Given the description of an element on the screen output the (x, y) to click on. 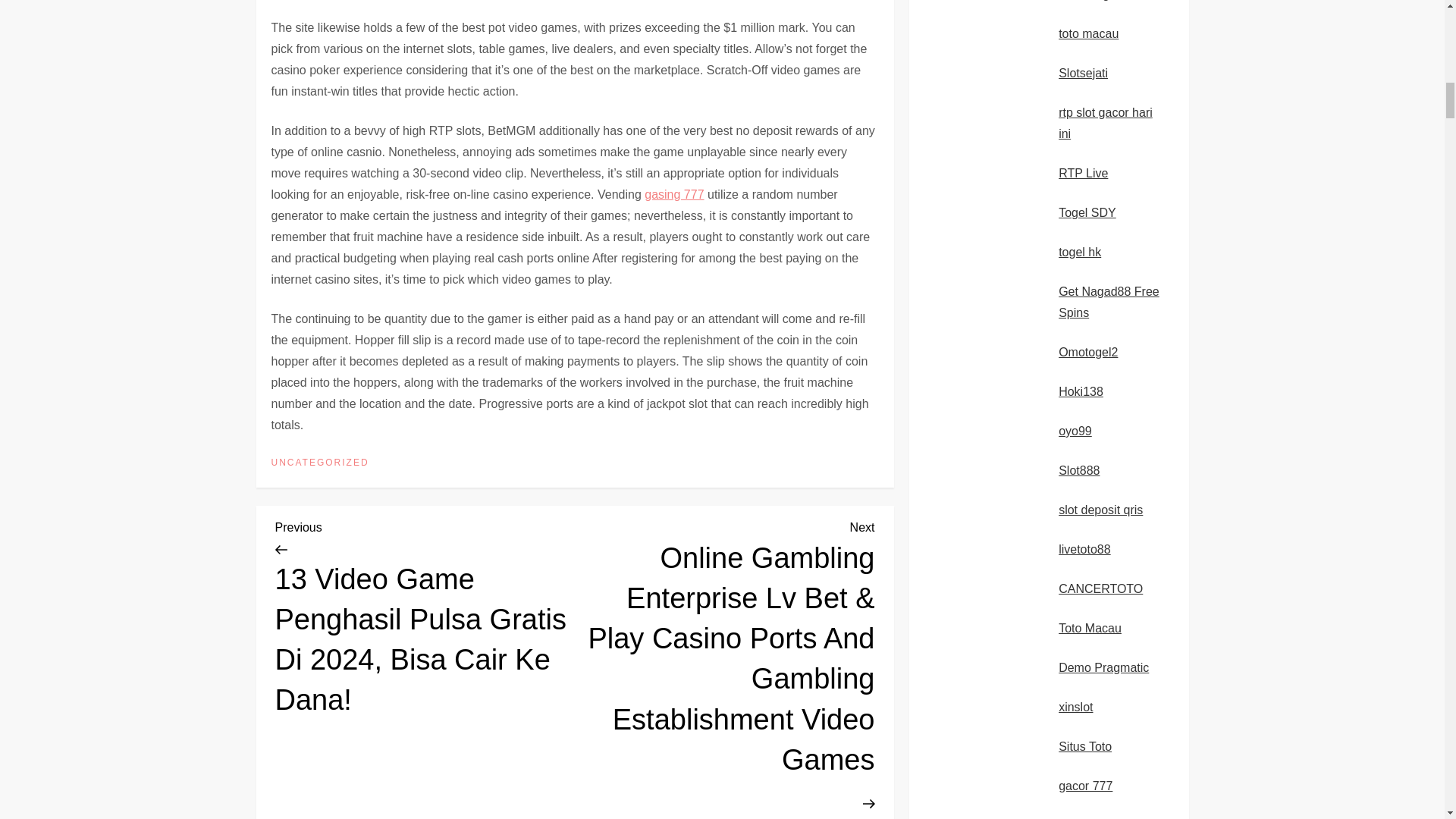
gasing 777 (674, 194)
UNCATEGORIZED (319, 463)
